Given the description of an element on the screen output the (x, y) to click on. 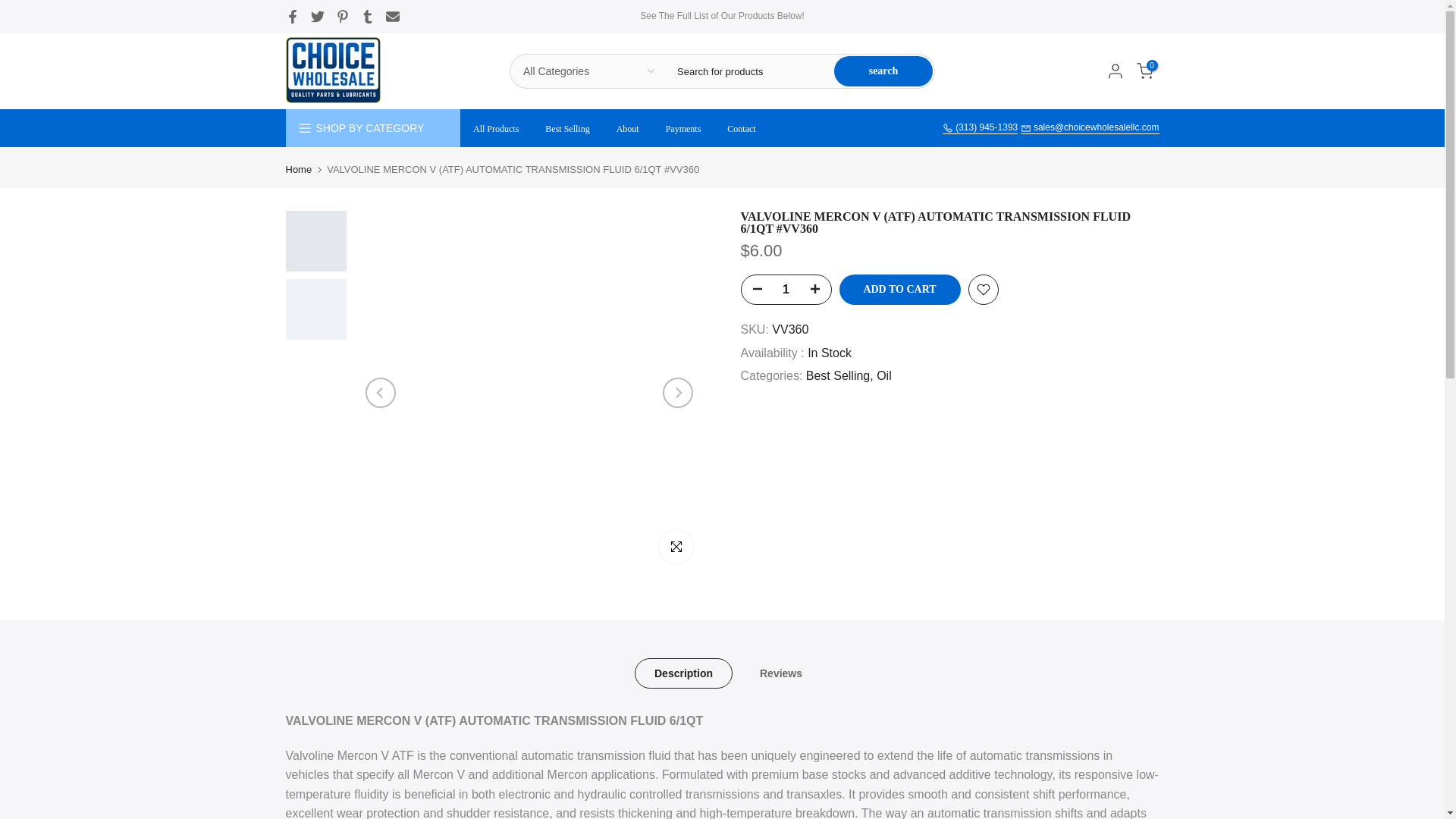
1 (786, 289)
Payments (683, 128)
0 (1144, 71)
Reviews (780, 673)
ADD TO CART (898, 289)
Home (298, 169)
All Products (495, 128)
Best Selling (567, 128)
Description (682, 673)
search (883, 71)
